Given the description of an element on the screen output the (x, y) to click on. 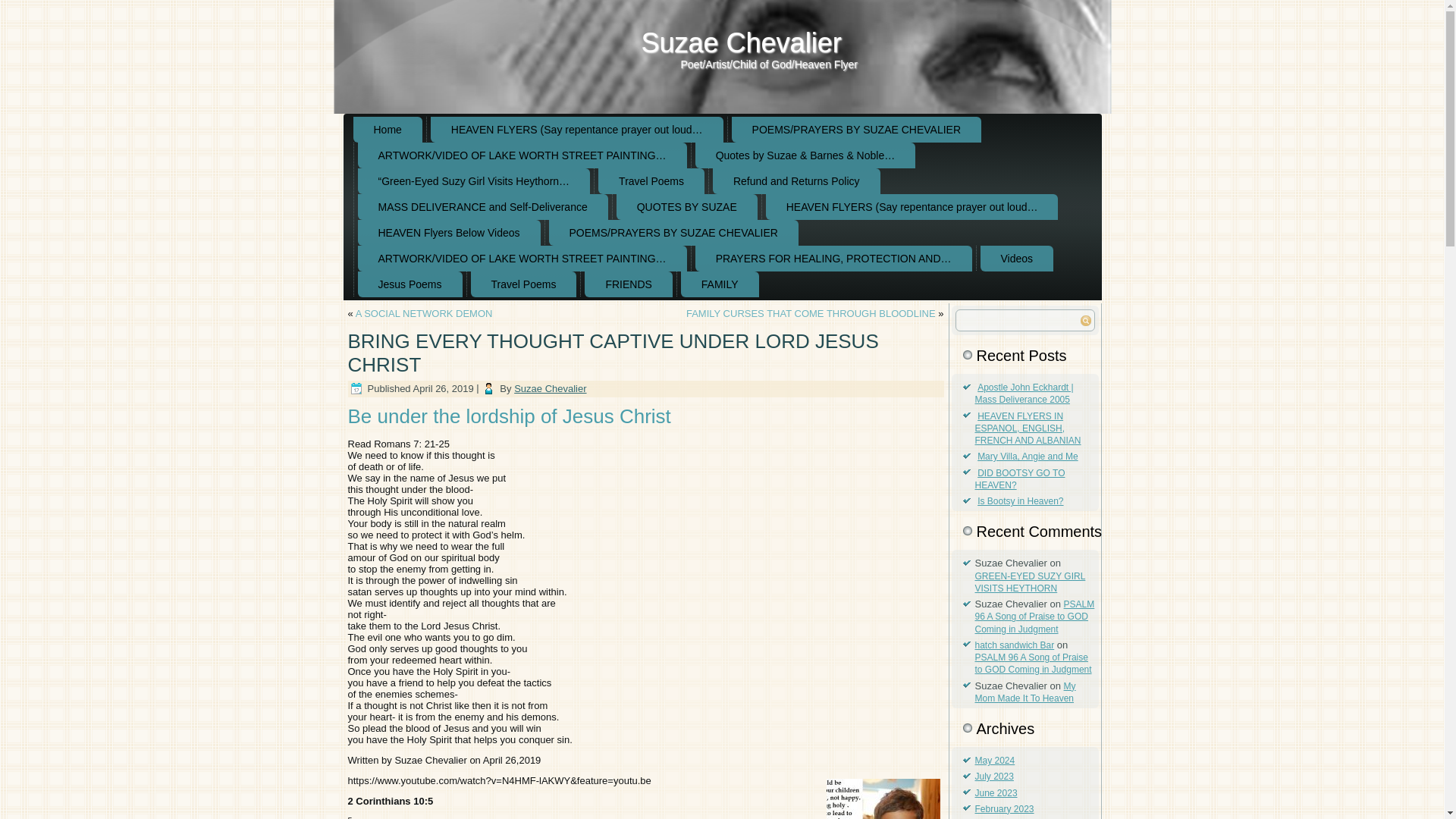
HEAVEN Flyers Below Videos (449, 232)
Suzae Chevalier (741, 42)
Home (387, 129)
Videos (1016, 258)
QUOTES BY SUZAE (686, 207)
Home (387, 129)
MASS DELIVERANCE and Self-Deliverance (483, 207)
Travel Poems (651, 181)
Refund and Returns Policy (796, 181)
